Given the description of an element on the screen output the (x, y) to click on. 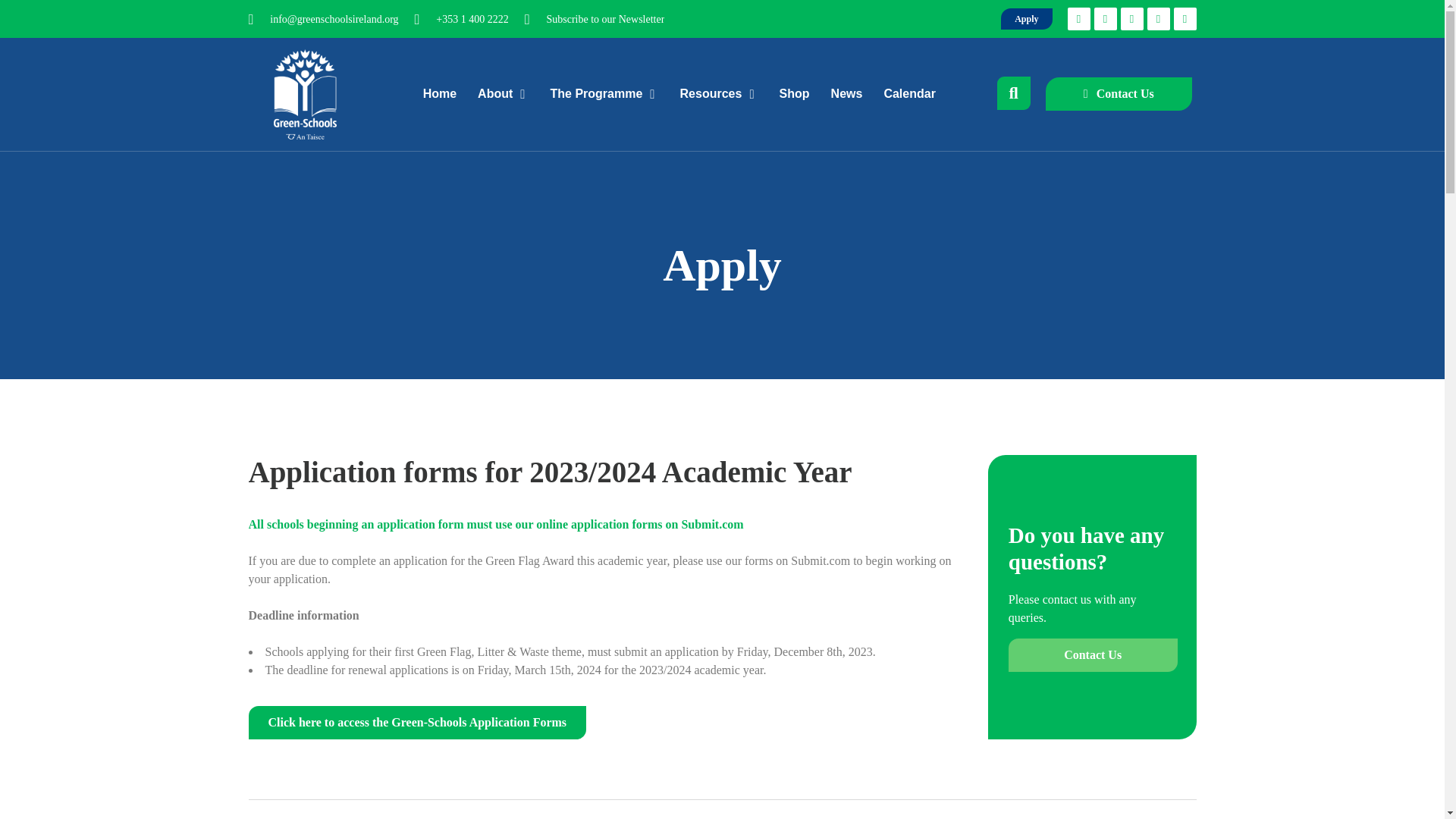
About (500, 94)
Apply (1026, 18)
Home (440, 94)
Shop (793, 94)
Resources (716, 94)
Subscribe to our Newsletter (594, 18)
The Programme (602, 94)
News (847, 94)
Calendar (908, 94)
